Given the description of an element on the screen output the (x, y) to click on. 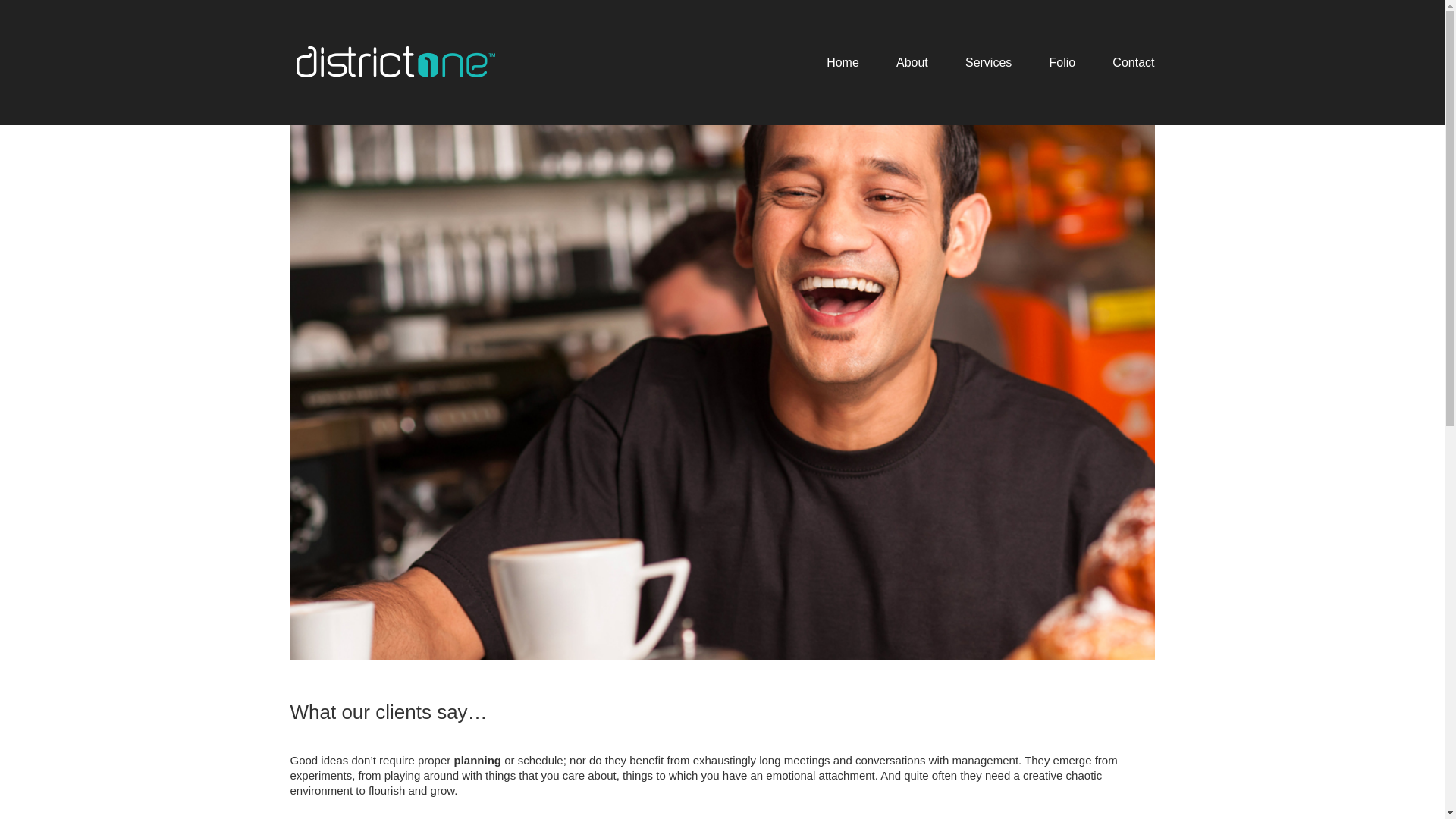
Services Element type: text (988, 62)
About Element type: text (912, 62)
Contact Element type: text (1133, 62)
Home Element type: text (842, 62)
Folio Element type: text (1062, 62)
